Given the description of an element on the screen output the (x, y) to click on. 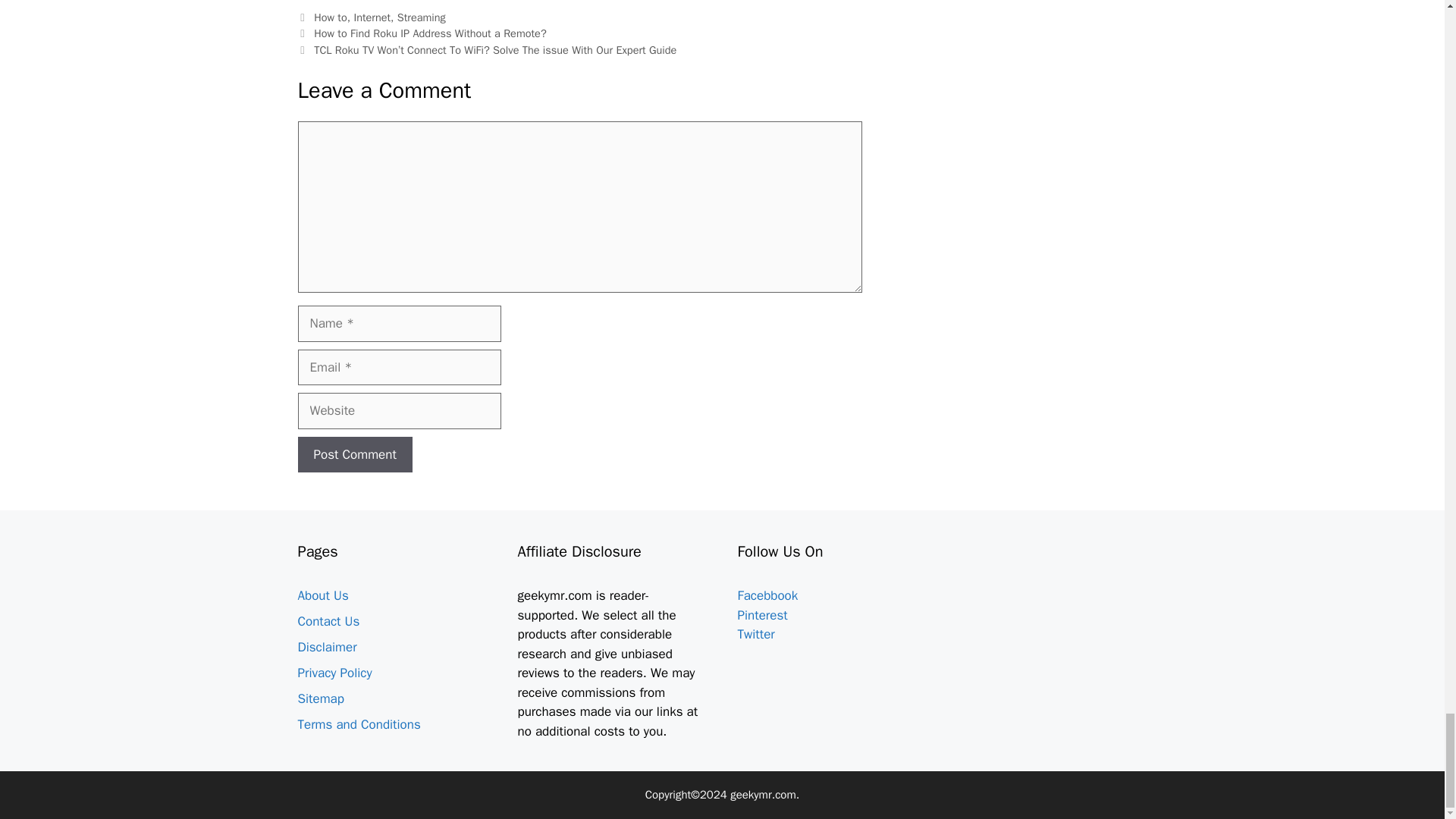
Post Comment (354, 454)
